Given the description of an element on the screen output the (x, y) to click on. 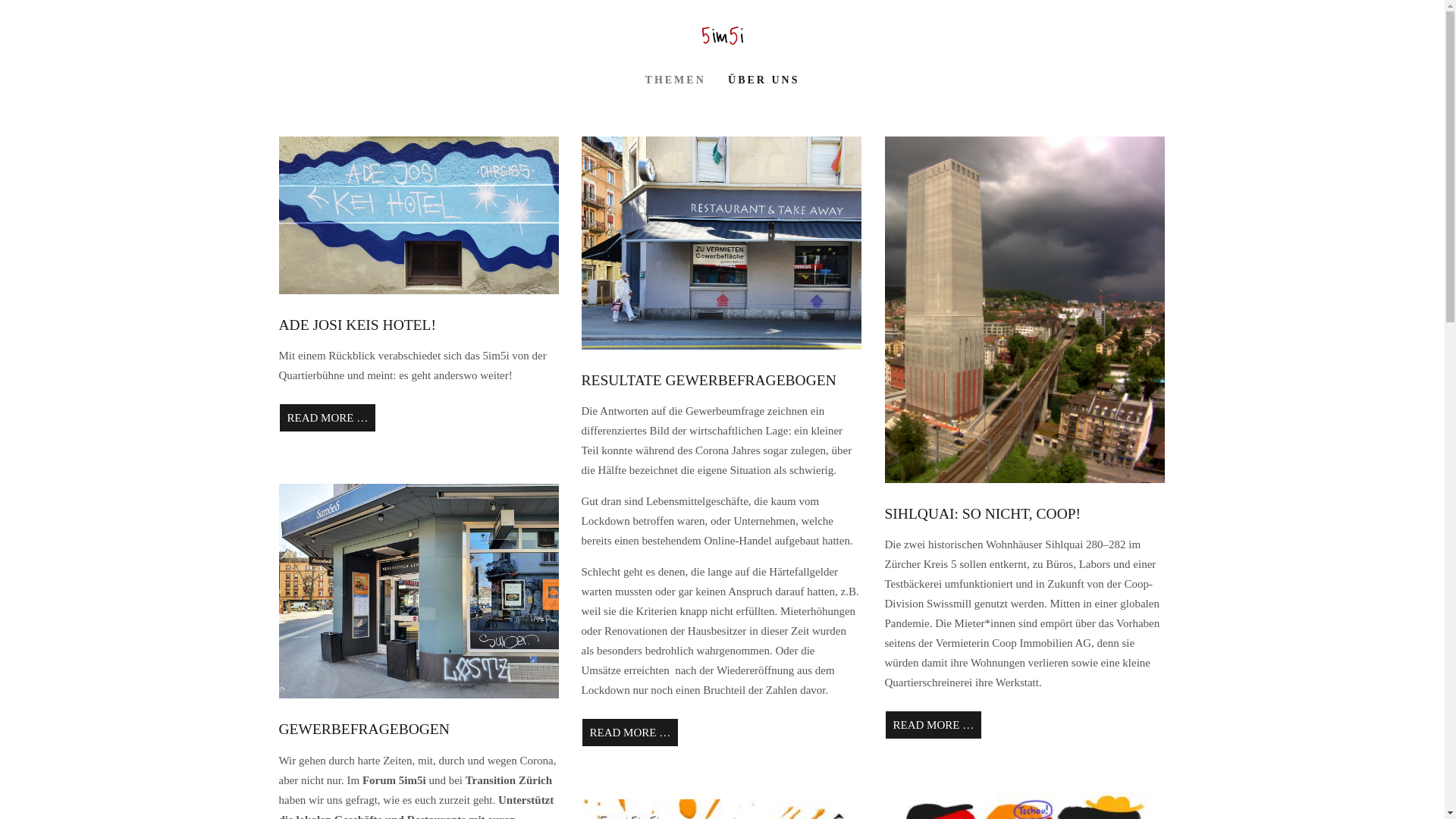
GEWERBEFRAGEBOGEN Element type: text (364, 729)
Skip navigation Element type: text (547, 73)
SIHLQUAI: SO NICHT, COOP! Element type: text (982, 513)
ADE JOSI KEIS HOTEL! Element type: text (357, 324)
RESULTATE GEWERBEFRAGEBOGEN Element type: text (707, 380)
Mit dem Swissmill-Turm nicht genug Element type: hover (1024, 479)
